Given the description of an element on the screen output the (x, y) to click on. 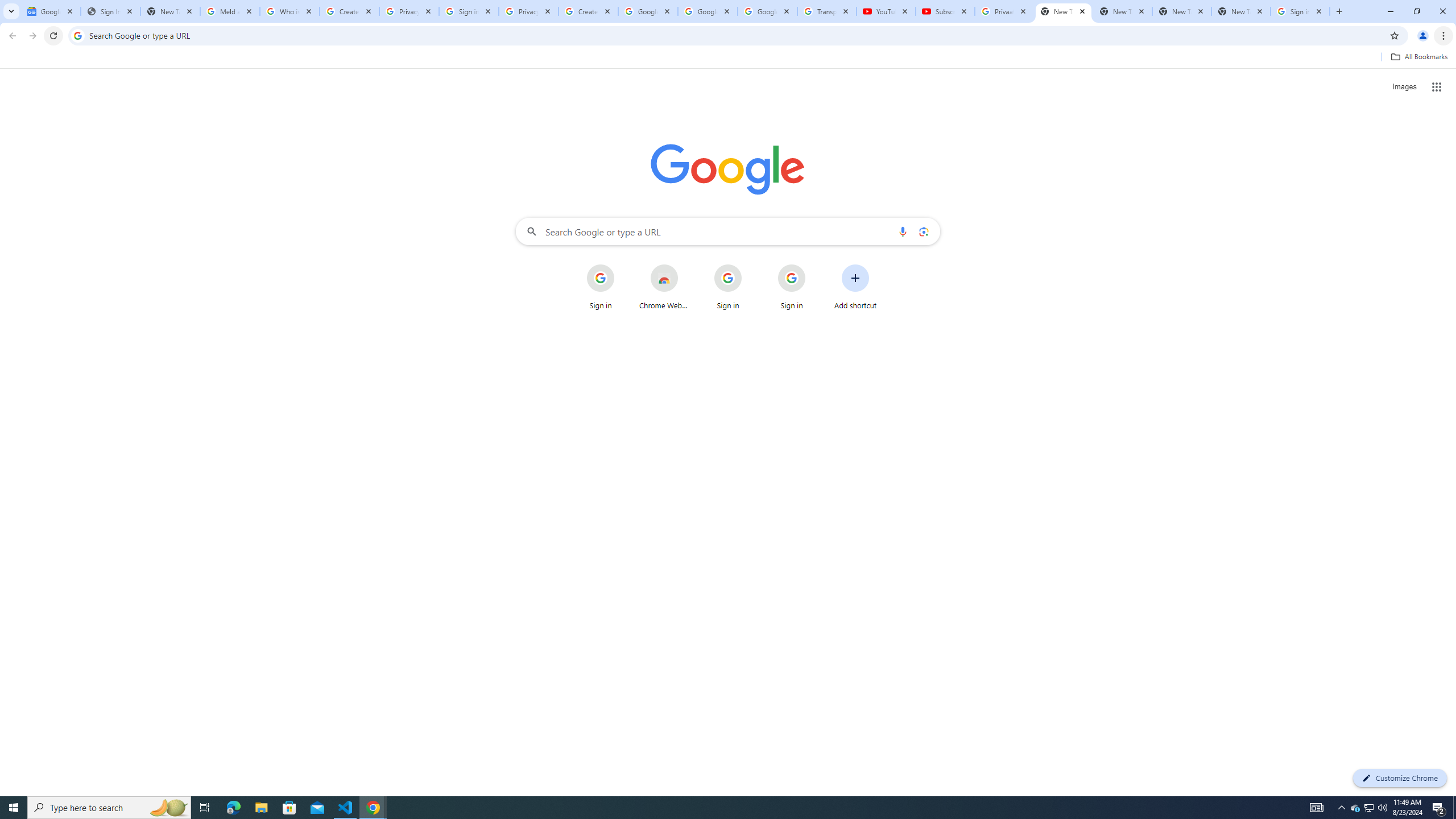
Create your Google Account (349, 11)
Customize Chrome (1399, 778)
More actions for Chrome Web Store shortcut (686, 265)
